Given the description of an element on the screen output the (x, y) to click on. 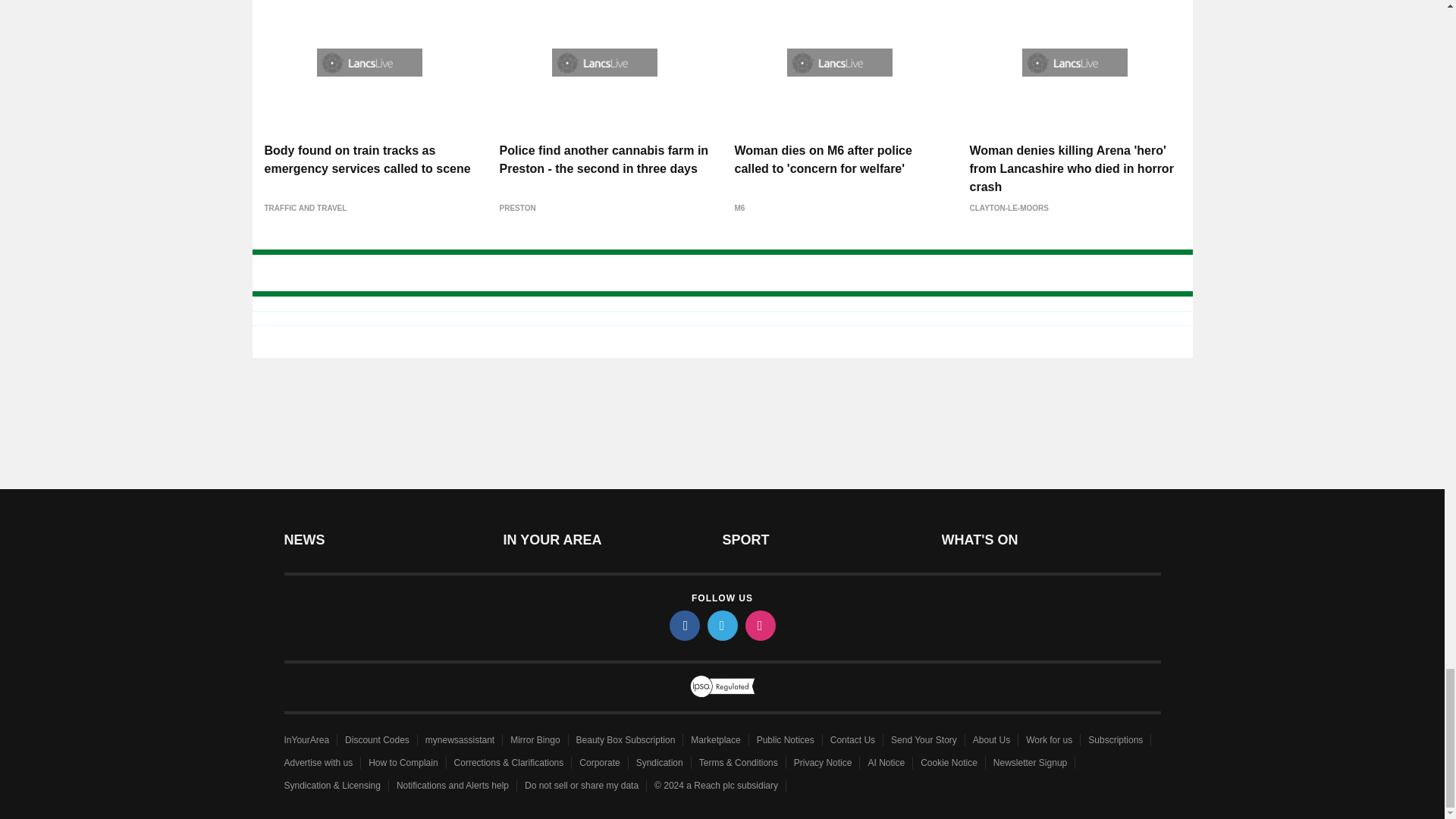
facebook (683, 625)
twitter (721, 625)
instagram (759, 625)
